Given the description of an element on the screen output the (x, y) to click on. 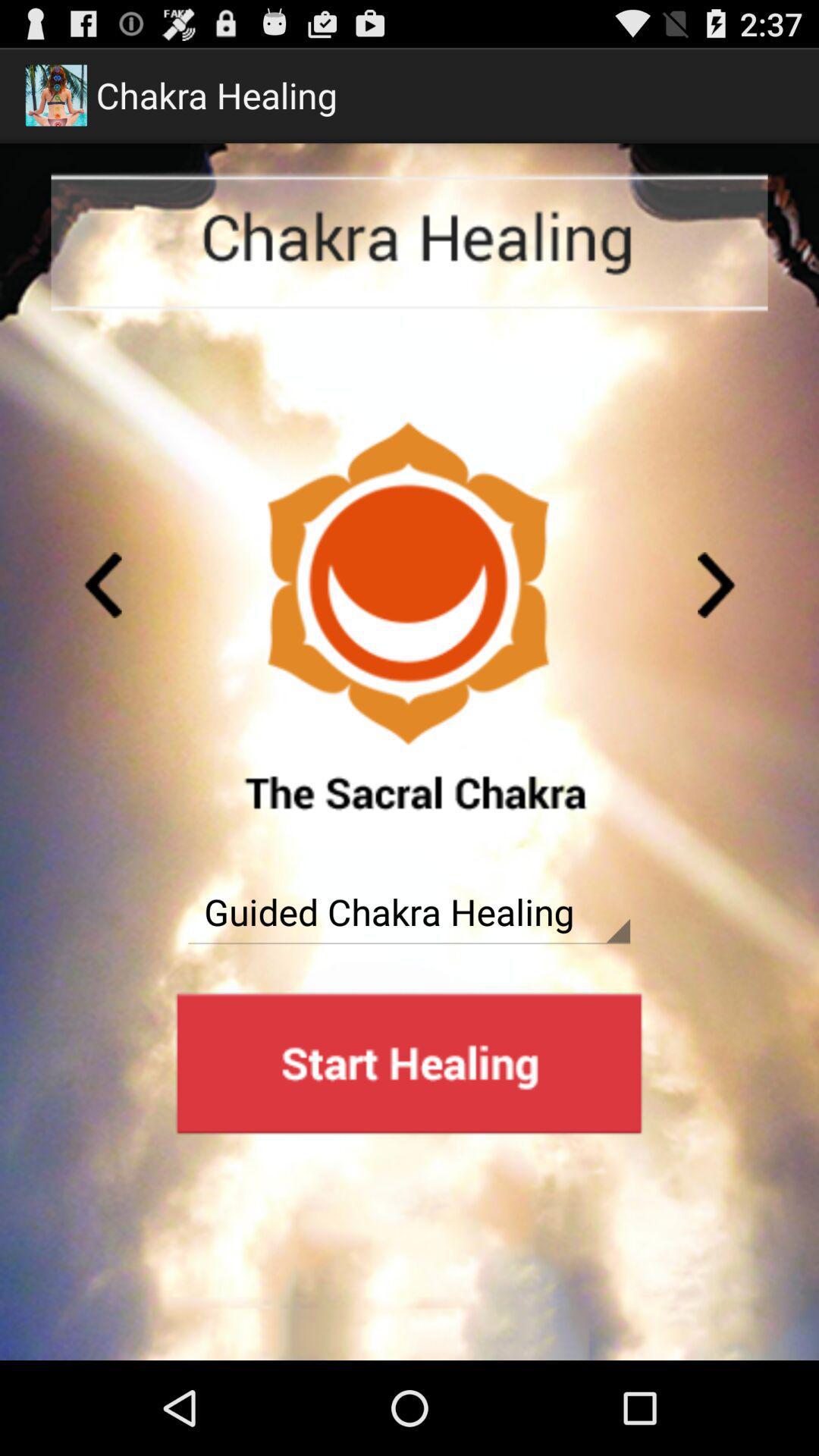
go to previous (102, 585)
